Given the description of an element on the screen output the (x, y) to click on. 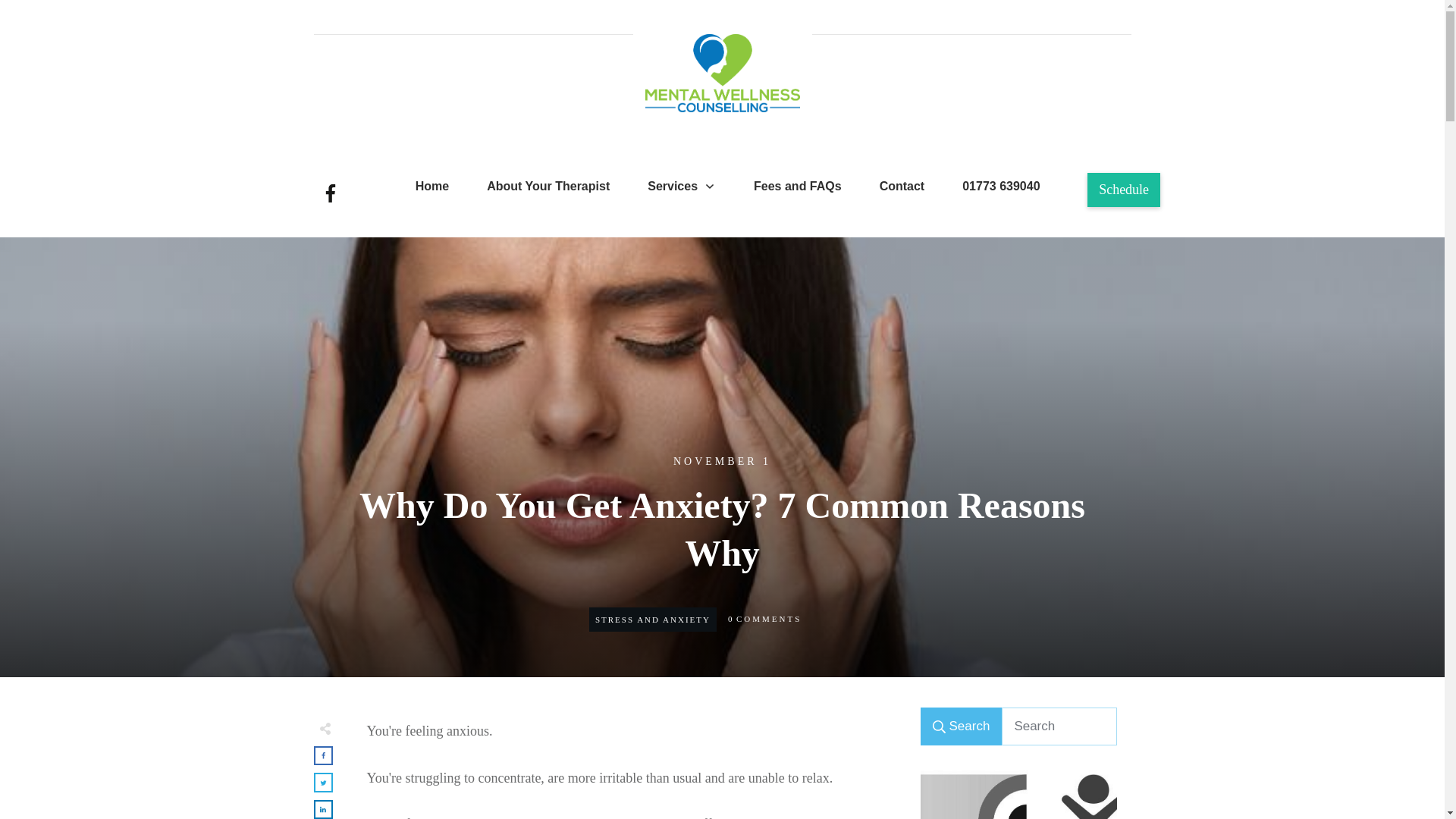
Contact (901, 186)
Services (681, 186)
Fees and FAQs (797, 186)
About Your Therapist (548, 186)
Schedule (1123, 190)
Home (431, 186)
Search (961, 726)
01773 639040 (1000, 186)
